Given the description of an element on the screen output the (x, y) to click on. 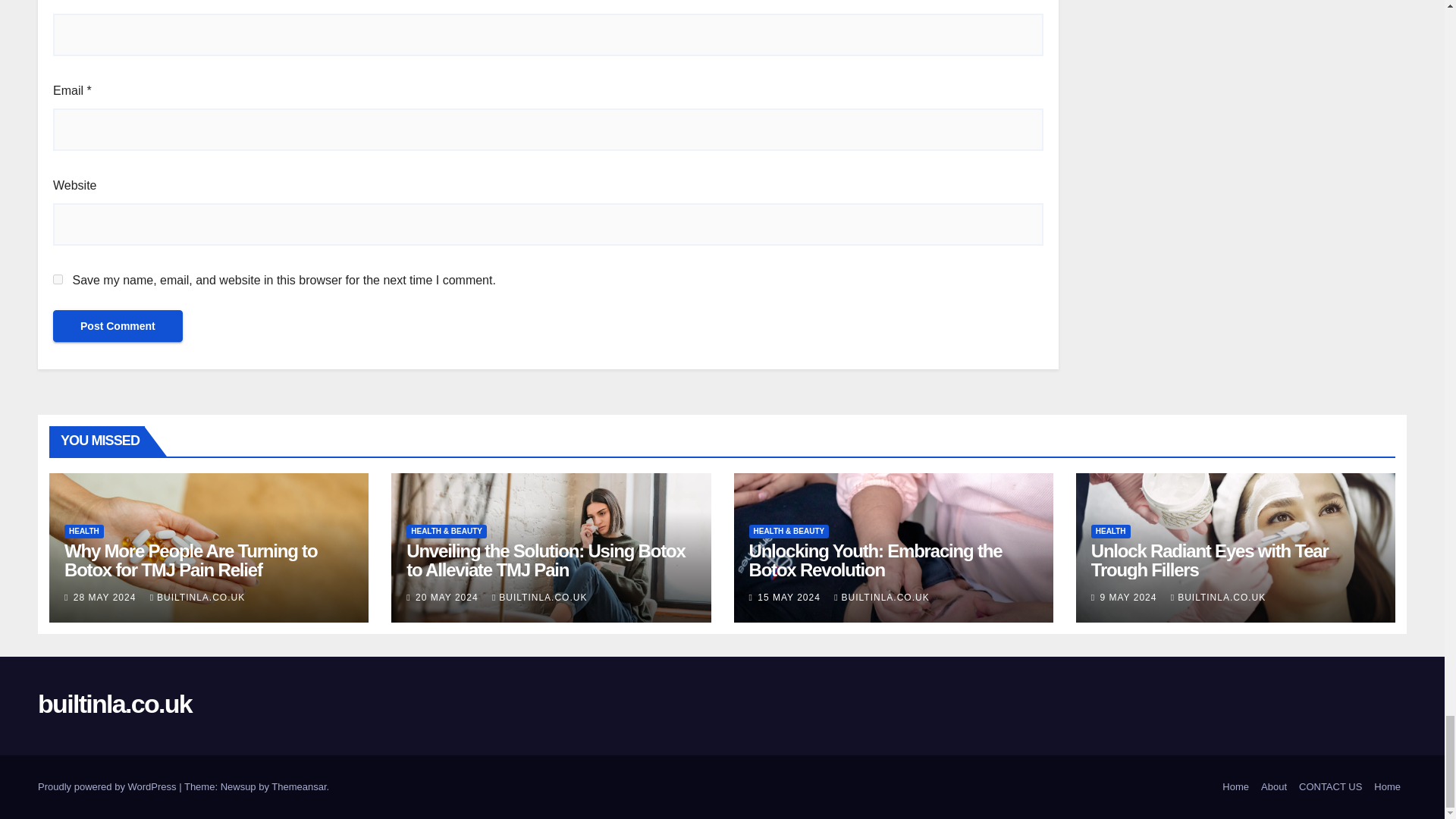
Post Comment (117, 326)
yes (57, 279)
